Given the description of an element on the screen output the (x, y) to click on. 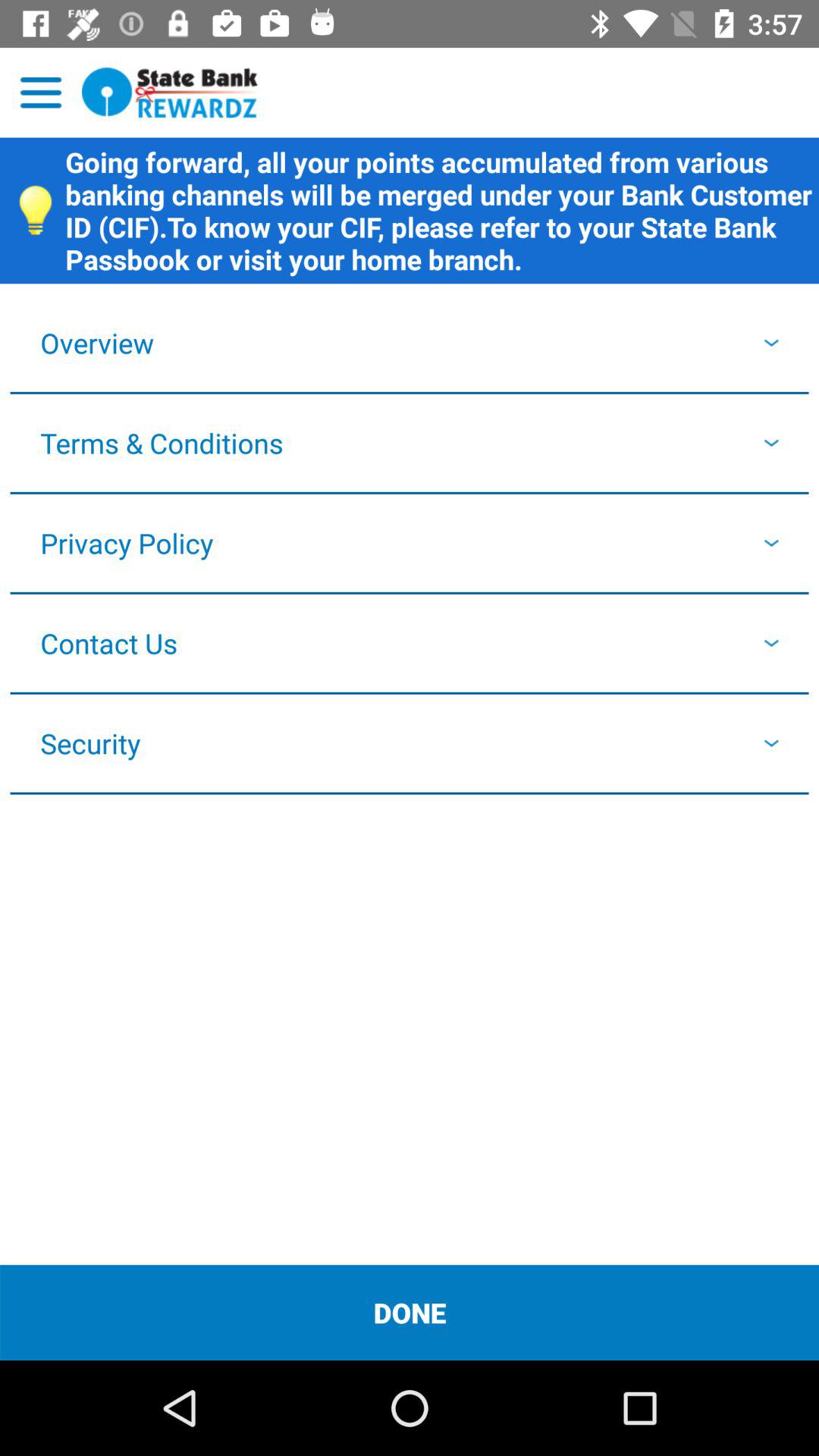
give me another option (40, 92)
